Given the description of an element on the screen output the (x, y) to click on. 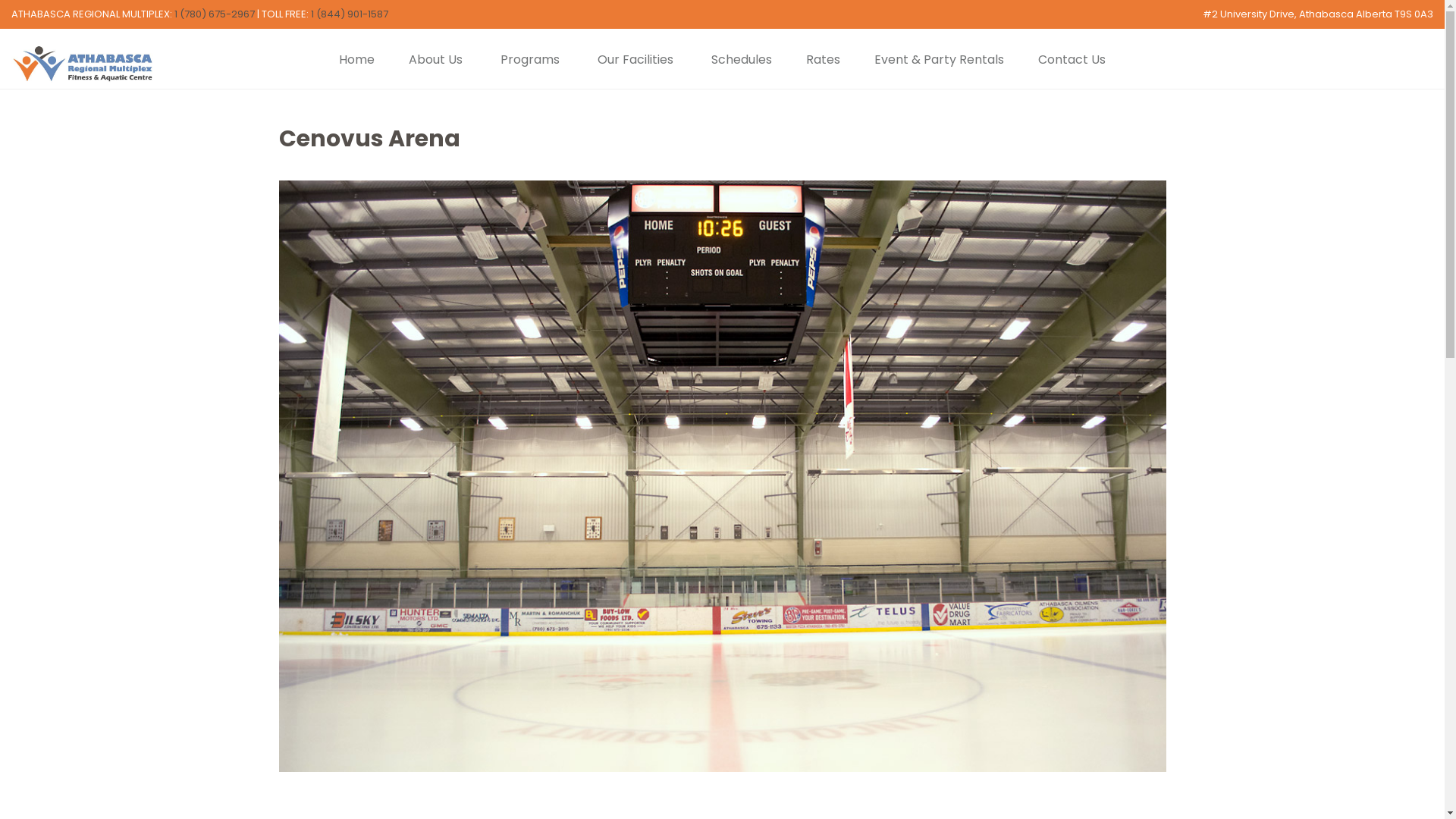
Contact Us Element type: text (1071, 59)
Rates Element type: text (823, 59)
1 (844) 901-1587 Element type: text (349, 13)
About Us Element type: text (435, 59)
Our Facilities Element type: text (635, 59)
Programs Element type: text (529, 59)
20190124-Multiplex-AB-7-Arena-edited Element type: hover (722, 475)
1 (780) 675-2967 Element type: text (214, 13)
Schedules Element type: text (741, 59)
Event & Party Rentals Element type: text (939, 59)
Home Element type: text (356, 59)
